Given the description of an element on the screen output the (x, y) to click on. 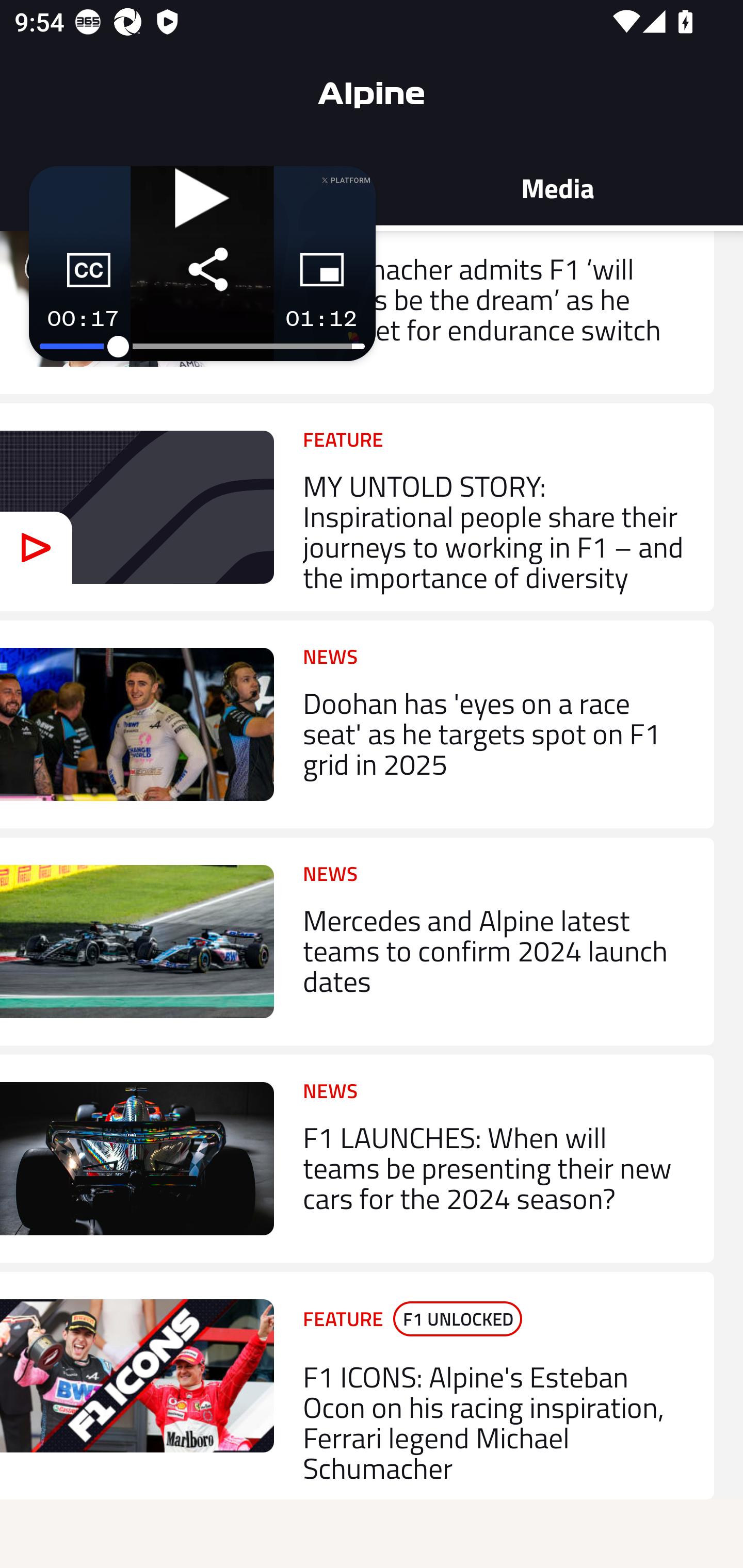
Stats (185, 187)
Video - Icon (36, 547)
